Given the description of an element on the screen output the (x, y) to click on. 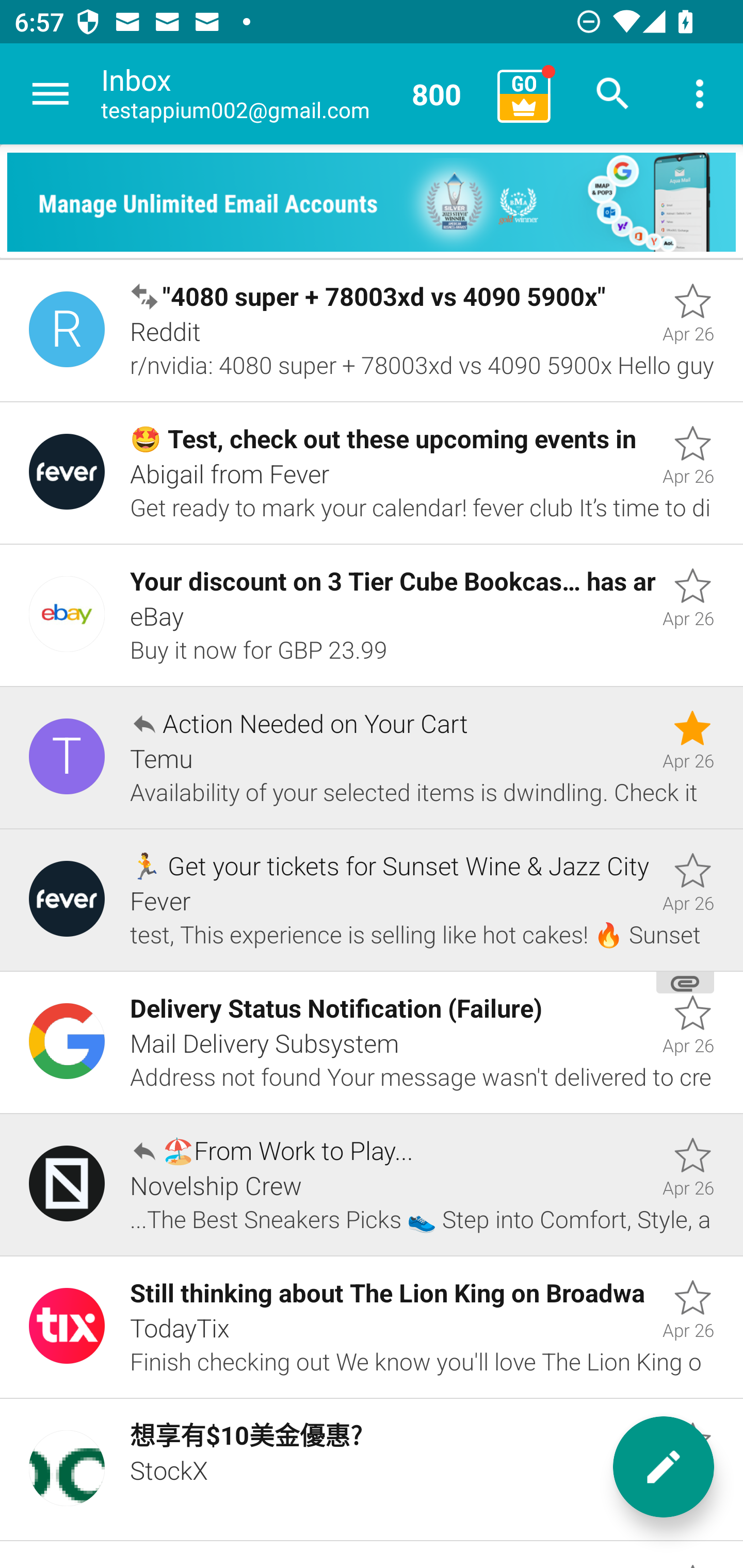
Navigate up (50, 93)
Inbox testappium002@gmail.com 800 (291, 93)
Search (612, 93)
More options (699, 93)
Unread, 想享有$10美金優惠?, StockX, Apr 26 (371, 1469)
New message (663, 1466)
